Given the description of an element on the screen output the (x, y) to click on. 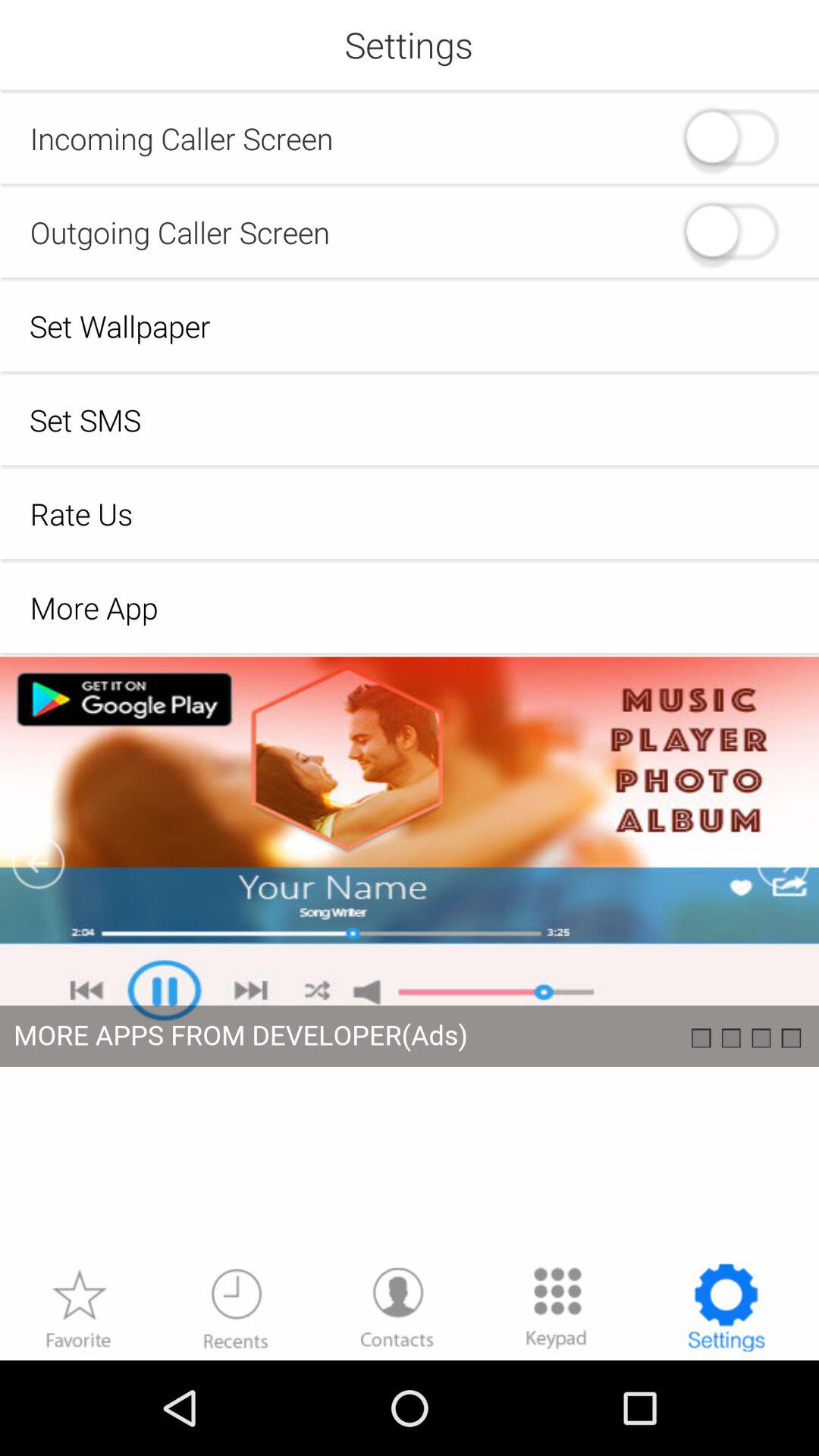
adverts (409, 958)
